Given the description of an element on the screen output the (x, y) to click on. 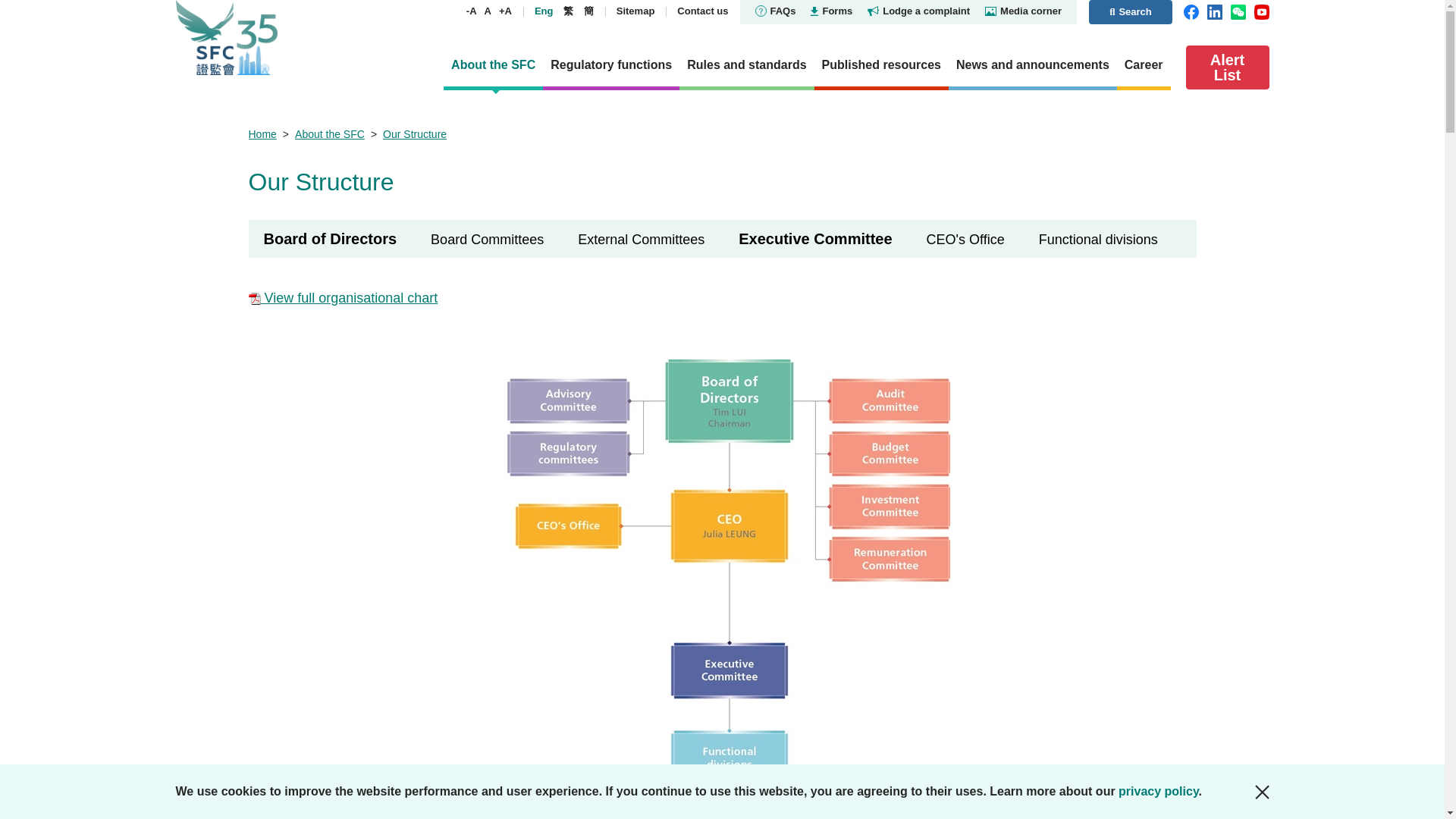
LinkedIn (1215, 10)
WeChat (1238, 10)
Media corner (1023, 10)
Career (1143, 67)
Securities and Futures Commission (274, 37)
Forms (830, 10)
Contact us (702, 10)
YouTube (1261, 10)
Rules and standards (746, 67)
About the SFC (493, 67)
Published resources (881, 67)
Securities and Futures Commission (274, 37)
Published resources (881, 67)
Lodge a complaint (918, 10)
Eng (543, 10)
